Given the description of an element on the screen output the (x, y) to click on. 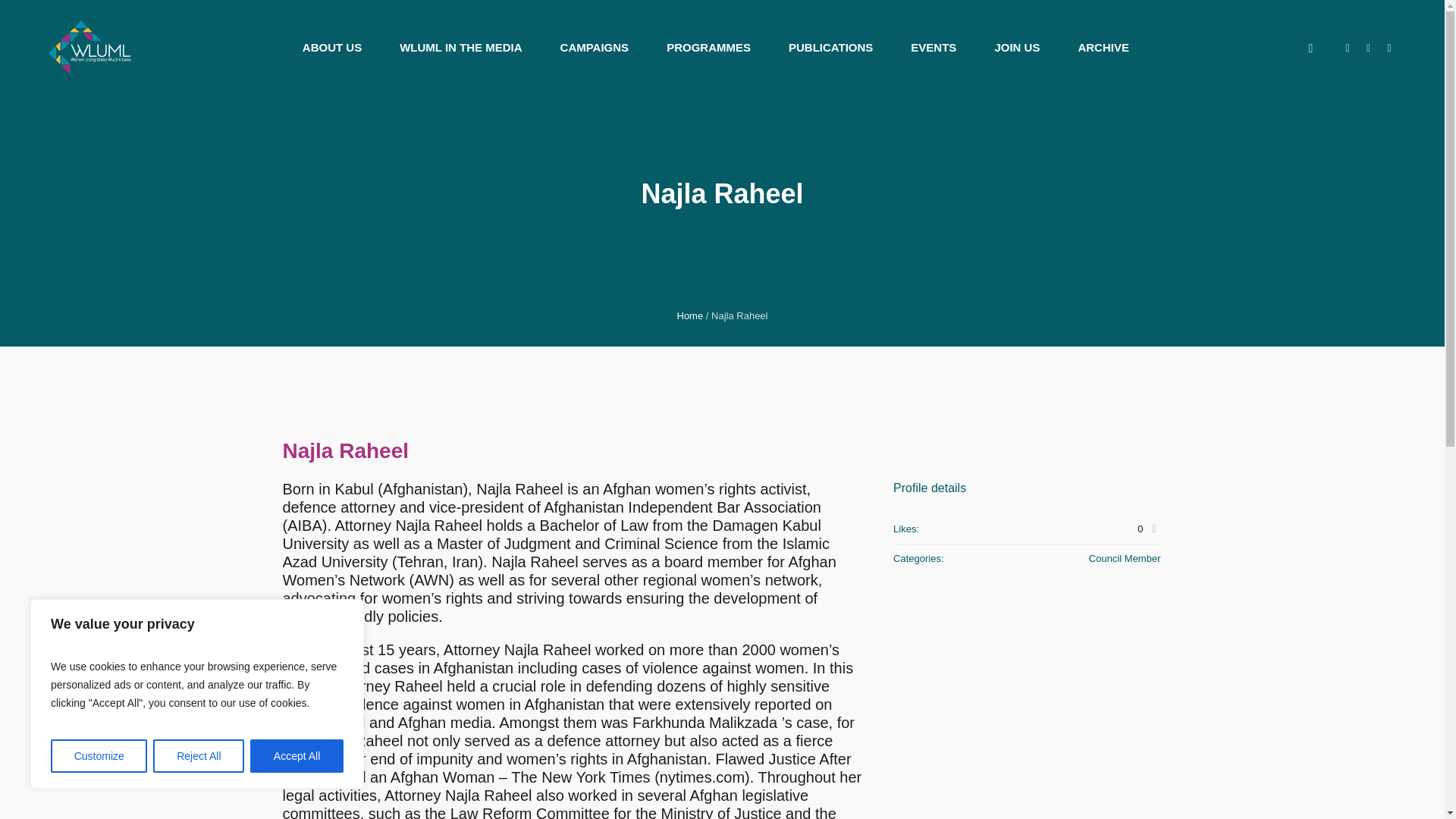
Instagram (1347, 48)
PROGRAMMES (708, 47)
CAMPAIGNS (594, 47)
PUBLICATIONS (830, 47)
Facebook (1388, 48)
Customize (98, 756)
WLUML IN THE MEDIA (460, 47)
Accept All (296, 756)
Twitter (1368, 48)
Reject All (198, 756)
